Given the description of an element on the screen output the (x, y) to click on. 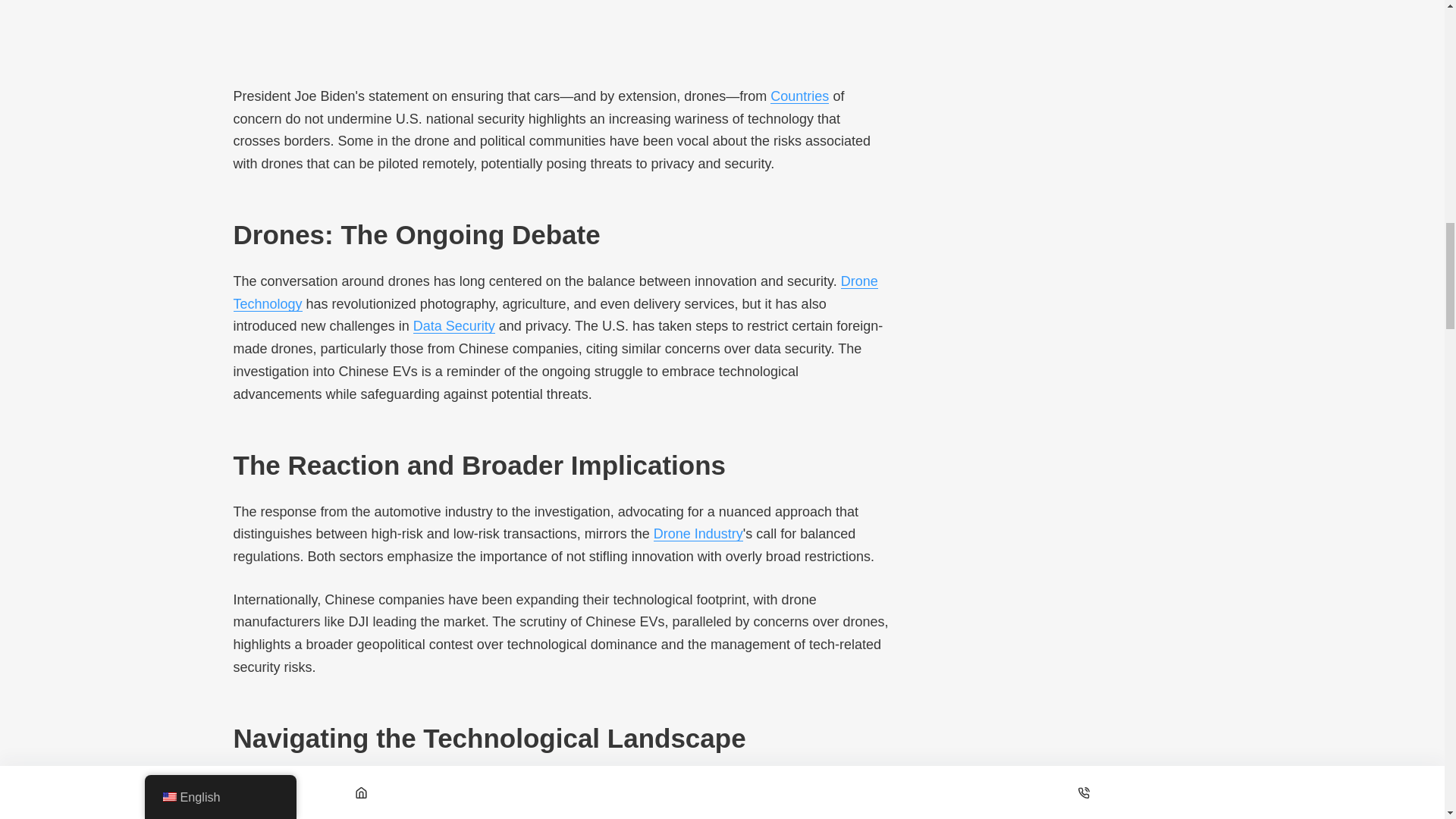
Posts in the category Countries (799, 96)
Posts in the category Data Security (454, 325)
Posts in the category Drone Industry (697, 533)
Posts in the category Drone Technology (554, 292)
